Given the description of an element on the screen output the (x, y) to click on. 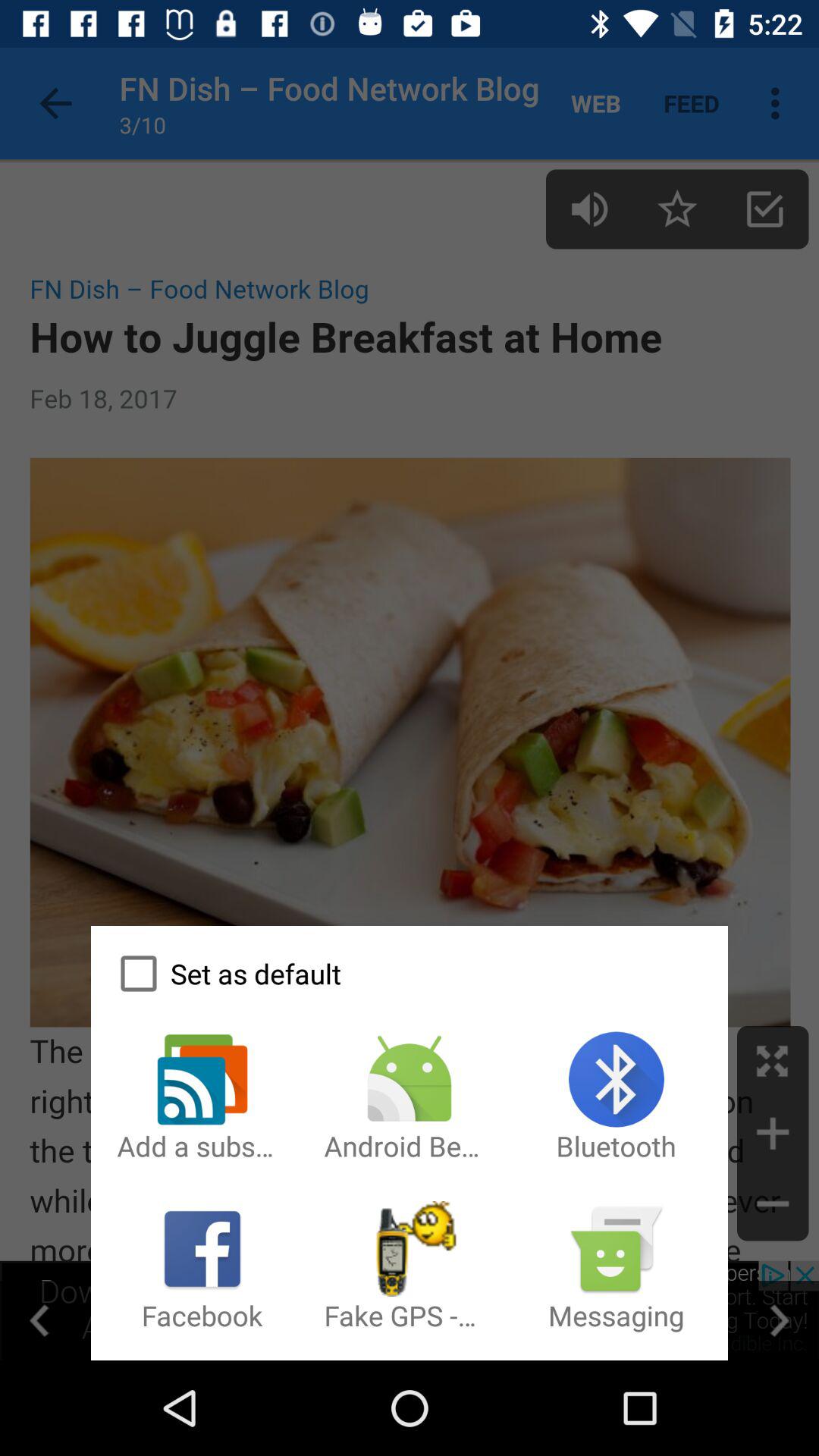
jump to set as default (409, 973)
